Given the description of an element on the screen output the (x, y) to click on. 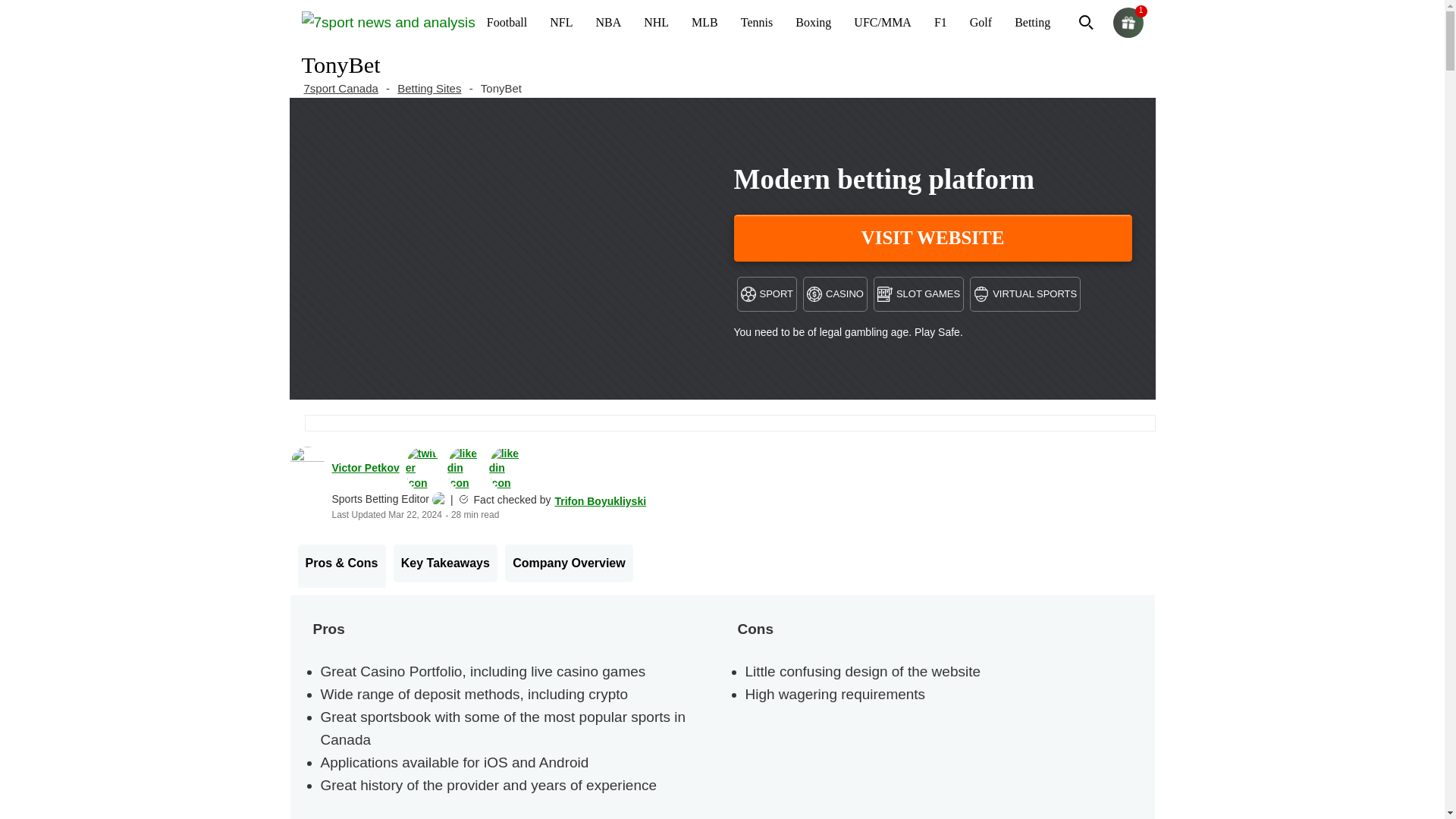
Golf (980, 22)
7 days logo (388, 21)
SPORT (766, 294)
F1 (940, 22)
MLB (704, 22)
Football (507, 22)
Betting (1032, 22)
VISIT WEBSITE (932, 237)
Tennis (756, 22)
NHL (655, 22)
